Given the description of an element on the screen output the (x, y) to click on. 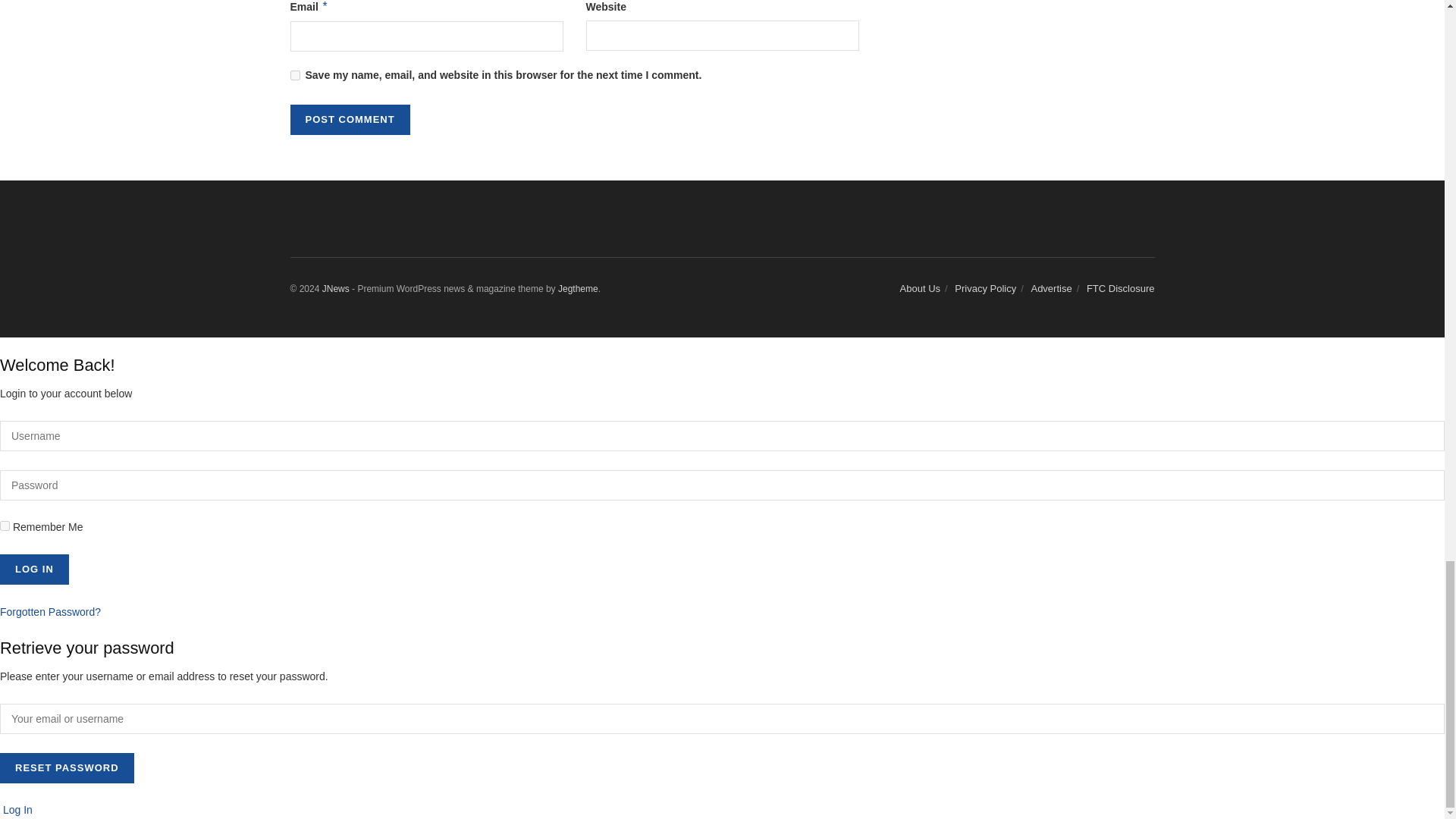
Post Comment (349, 119)
Jegtheme (577, 287)
true (5, 525)
Log In (34, 569)
yes (294, 75)
Reset Password (66, 767)
